Given the description of an element on the screen output the (x, y) to click on. 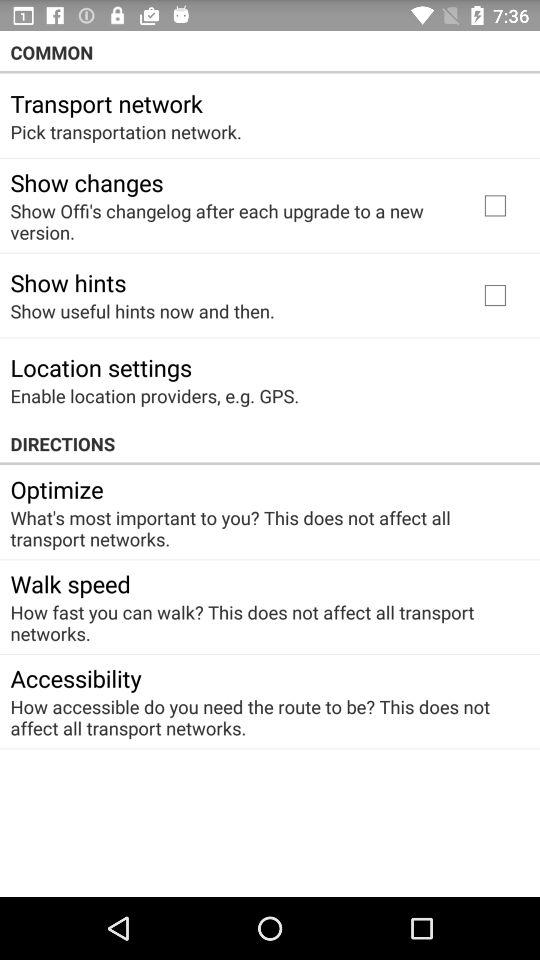
turn off item above enable location providers (101, 367)
